Given the description of an element on the screen output the (x, y) to click on. 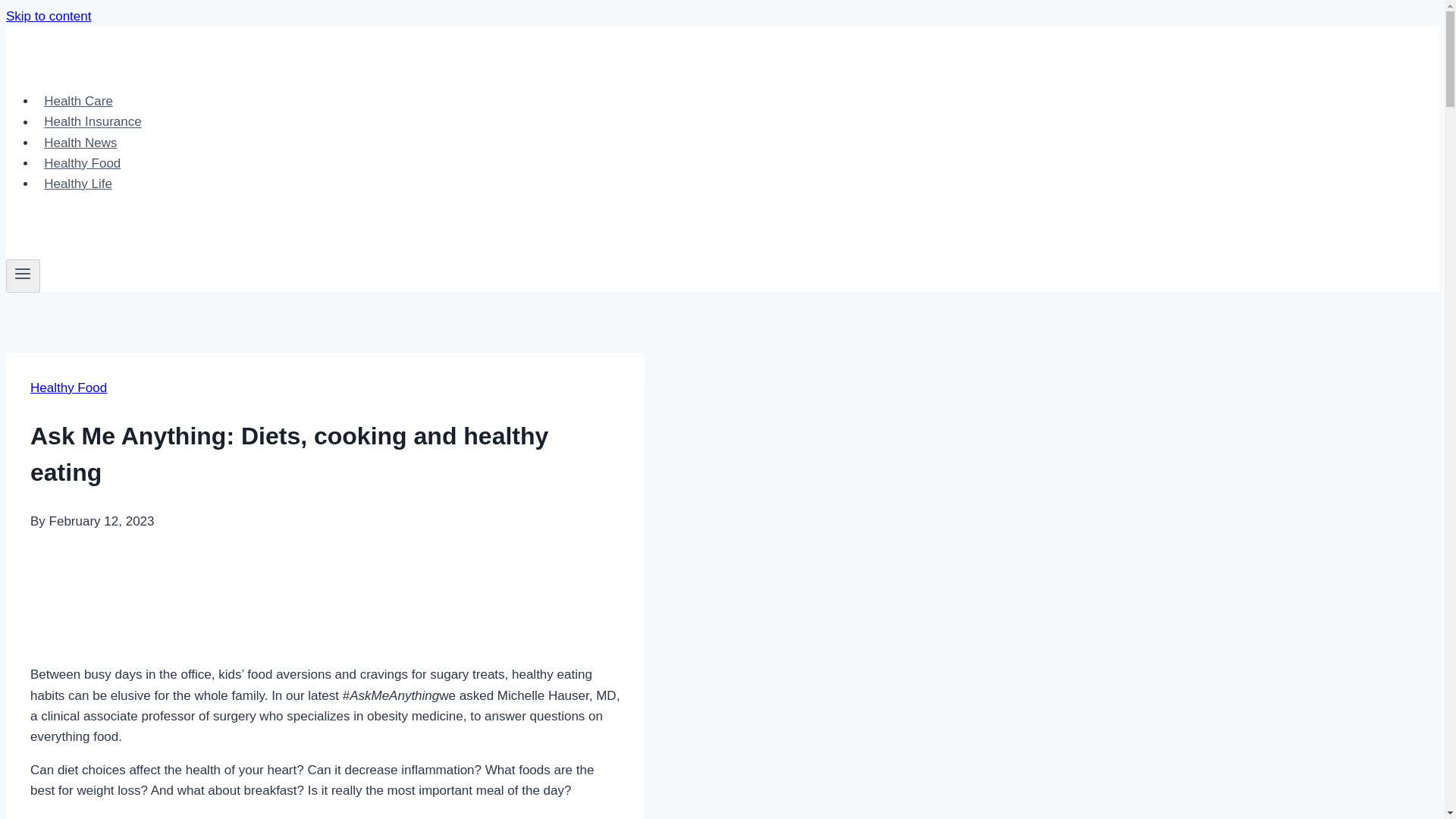
Skip to content (47, 16)
Skip to content (47, 16)
Health News (80, 142)
Health Insurance (92, 121)
Healthy Food (82, 163)
Toggle Menu (22, 273)
Healthy Food (68, 387)
Healthy Life (77, 183)
Ask Me Anything: Diets, cooking and healthy eating (485, 588)
Toggle Menu (22, 275)
Health Care (78, 101)
